Given the description of an element on the screen output the (x, y) to click on. 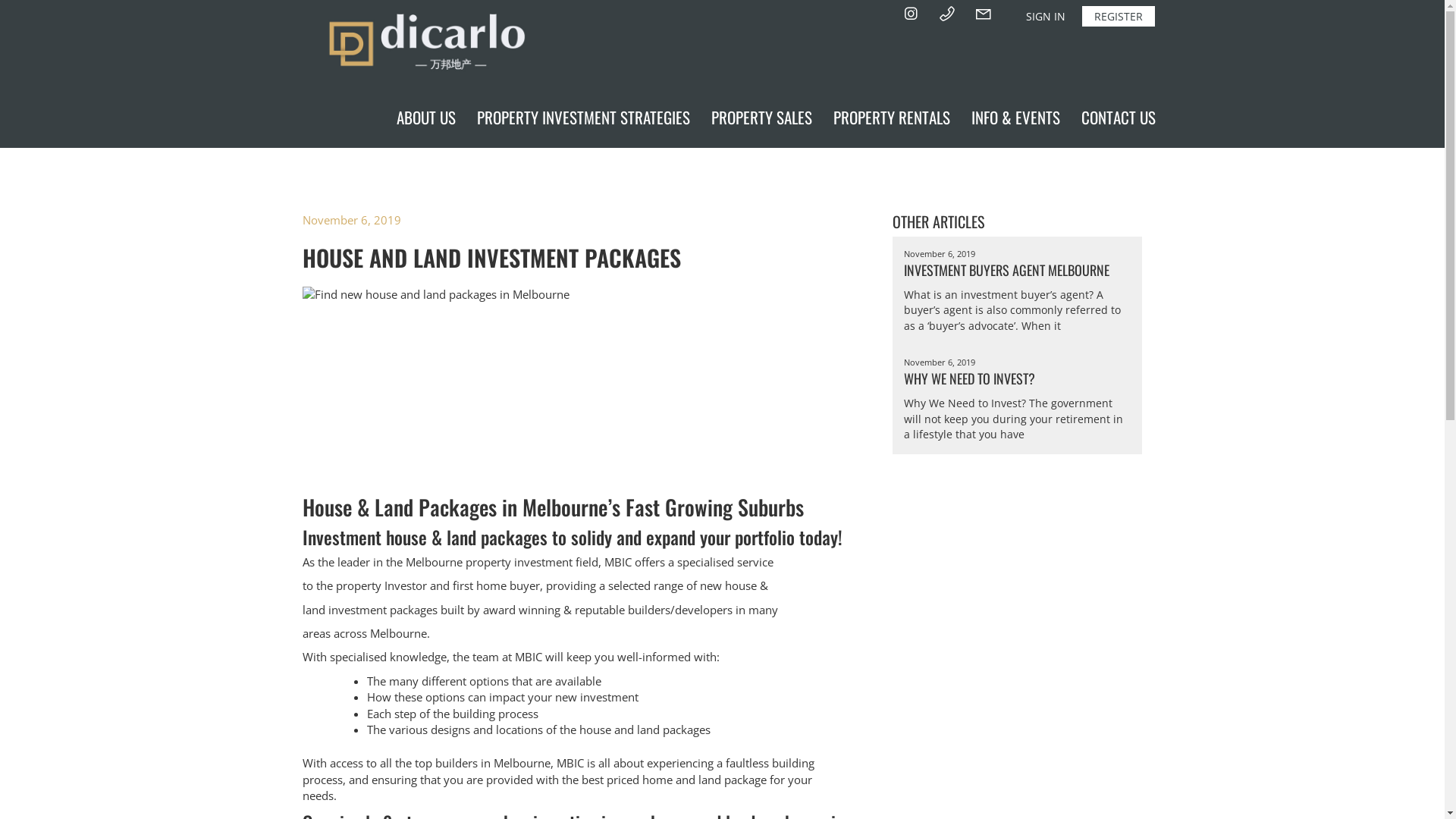
PROPERTY RENTALS Element type: text (891, 117)
INFO & EVENTS Element type: text (1015, 117)
REGISTER Element type: text (1117, 16)
November 6, 2019 Element type: text (350, 219)
PROPERTY SALES Element type: text (761, 117)
SIGN IN Element type: text (1044, 16)
House and Land.jpg Element type: hover (574, 381)
PROPERTY INVESTMENT STRATEGIES Element type: text (582, 117)
CONTACT US Element type: text (1118, 117)
ABOUT US Element type: text (425, 117)
